Given the description of an element on the screen output the (x, y) to click on. 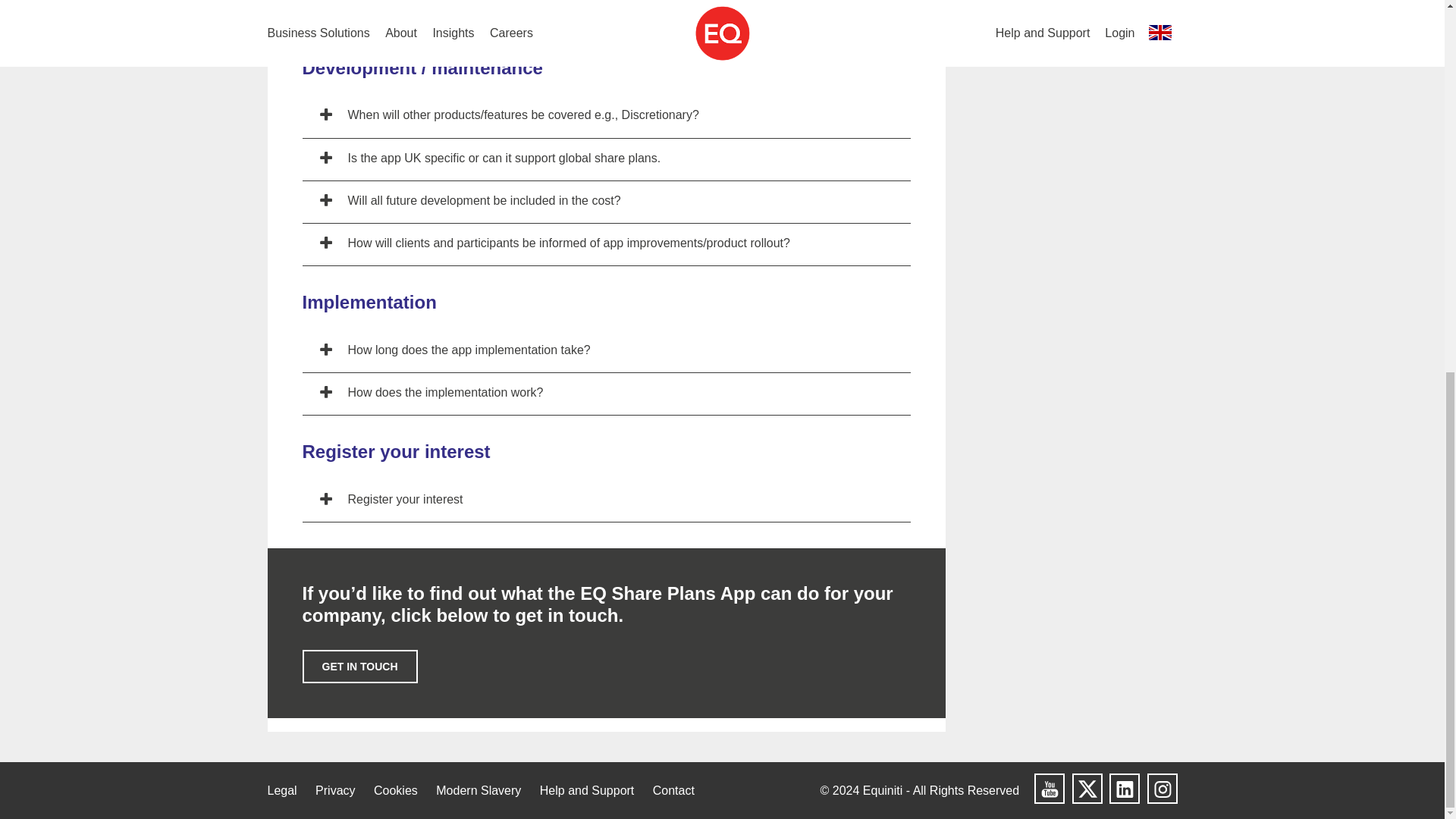
Follow us on Instagram (1161, 788)
Subscribe to us on YouTube (1048, 788)
Follow us on X (1086, 788)
Follow us on LinkedIn (1124, 788)
